Given the description of an element on the screen output the (x, y) to click on. 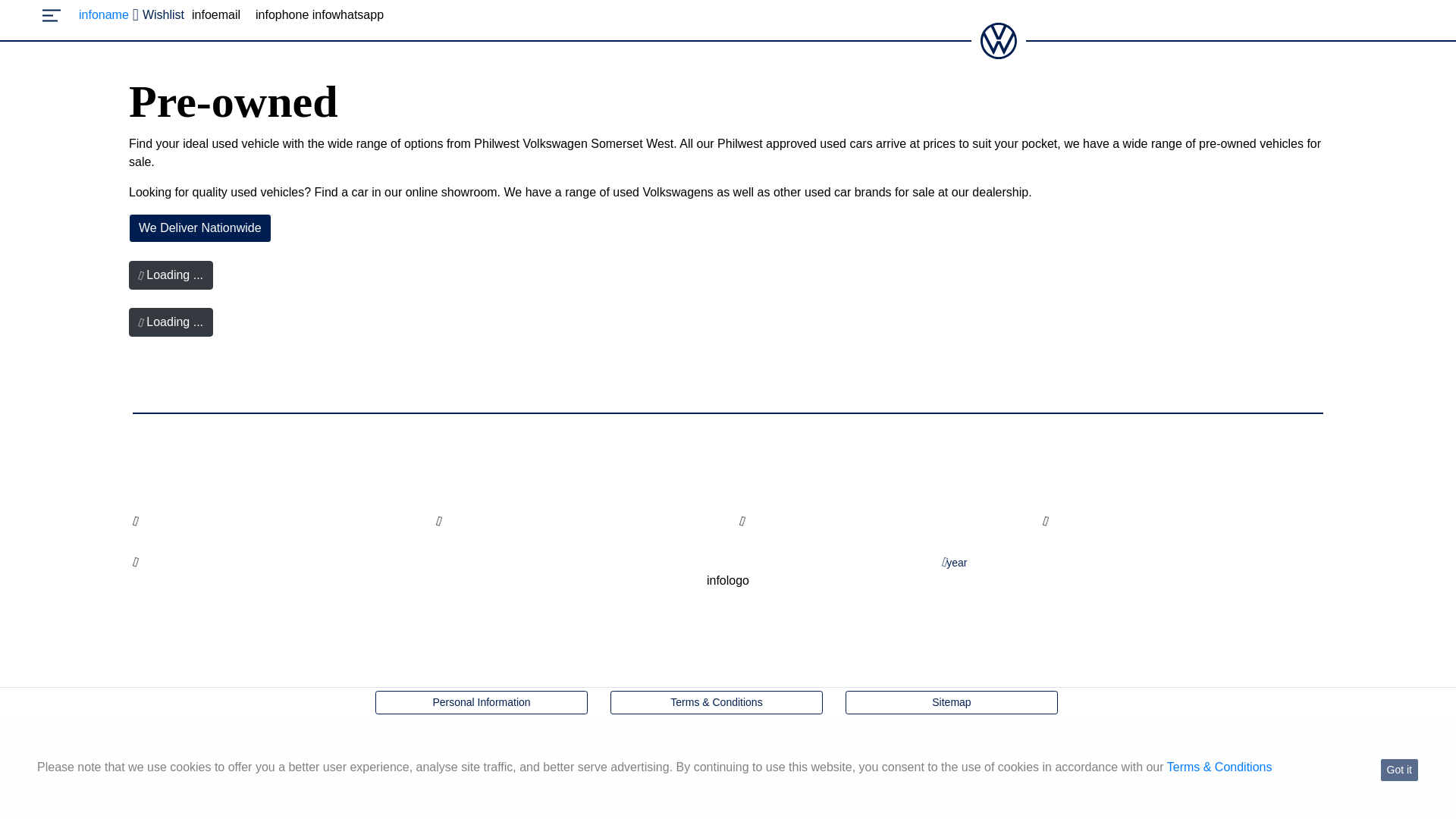
iX Online Motoring (723, 746)
Sitemap (951, 702)
Got it (1399, 770)
Wishlist (156, 15)
We Deliver Nationwide (199, 227)
Personal Information (481, 702)
infoname (103, 14)
iX Online Motoring (727, 744)
